Given the description of an element on the screen output the (x, y) to click on. 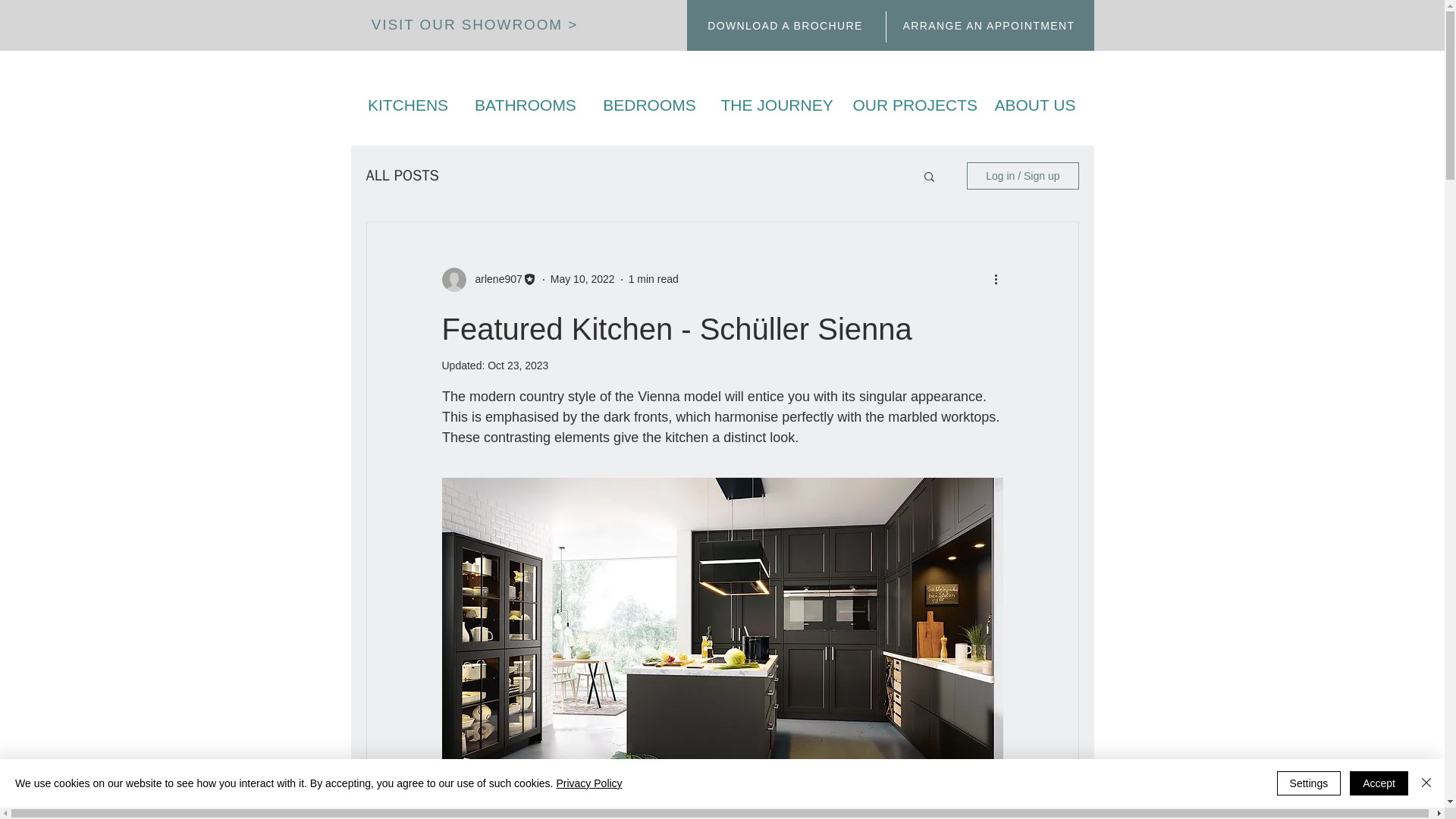
THE JOURNEY (773, 105)
Oct 23, 2023 (517, 365)
arlene907 (493, 279)
ABOUT US (1035, 105)
May 10, 2022 (582, 278)
ALL POSTS (401, 175)
BEDROOMS (649, 105)
OUR PROJECTS (909, 105)
1 min read (653, 278)
KITCHENS (407, 105)
